Given the description of an element on the screen output the (x, y) to click on. 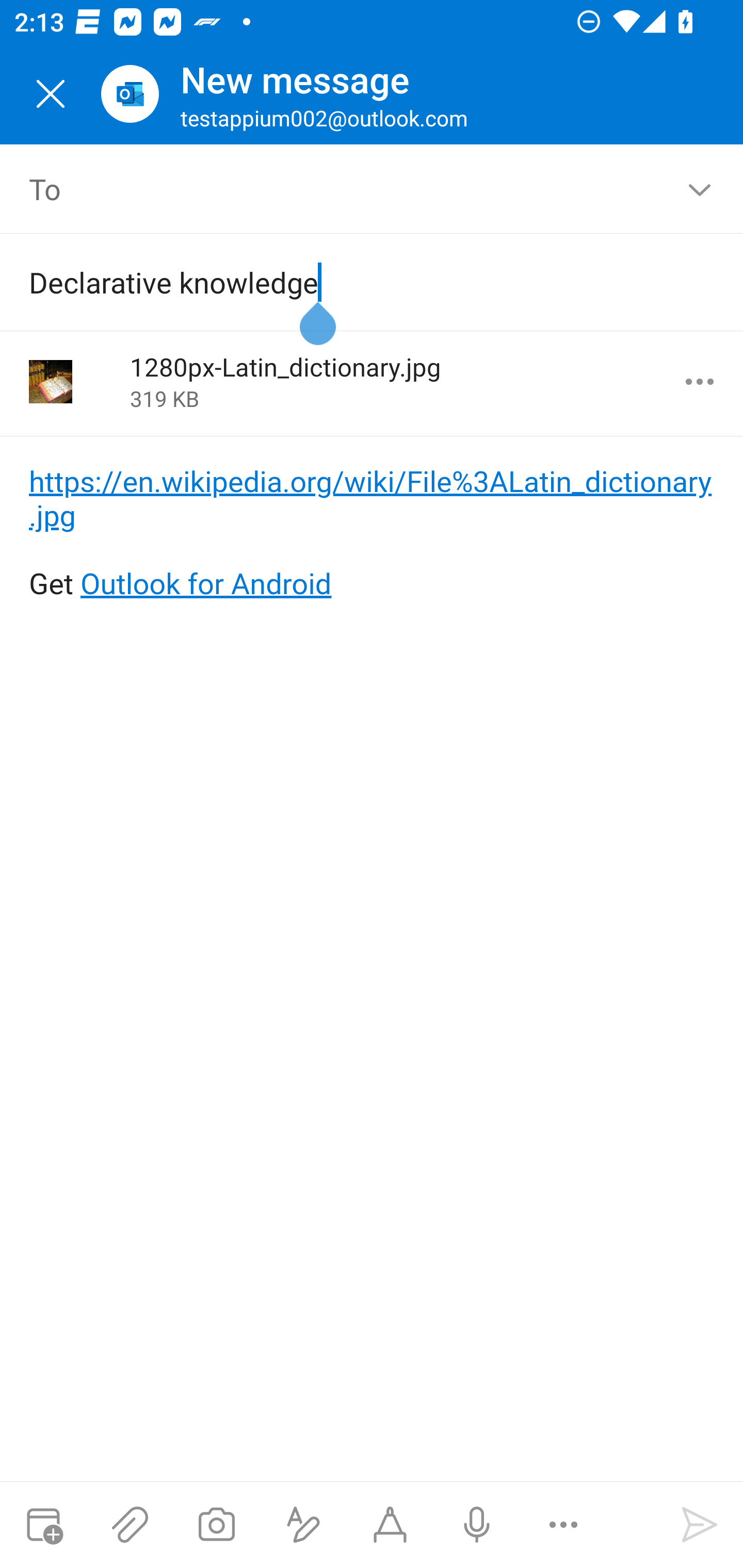
Close (50, 93)
Declarative knowledge (342, 281)
1280px-Latin_dictionary.jpg 319 KB More options (371, 382)
More options (699, 381)
Attach meeting (43, 1524)
Attach files (129, 1524)
Take a photo (216, 1524)
Show formatting options (303, 1524)
Start Ink compose (389, 1524)
Dictation (476, 1524)
More options (563, 1524)
Send (699, 1524)
